Given the description of an element on the screen output the (x, y) to click on. 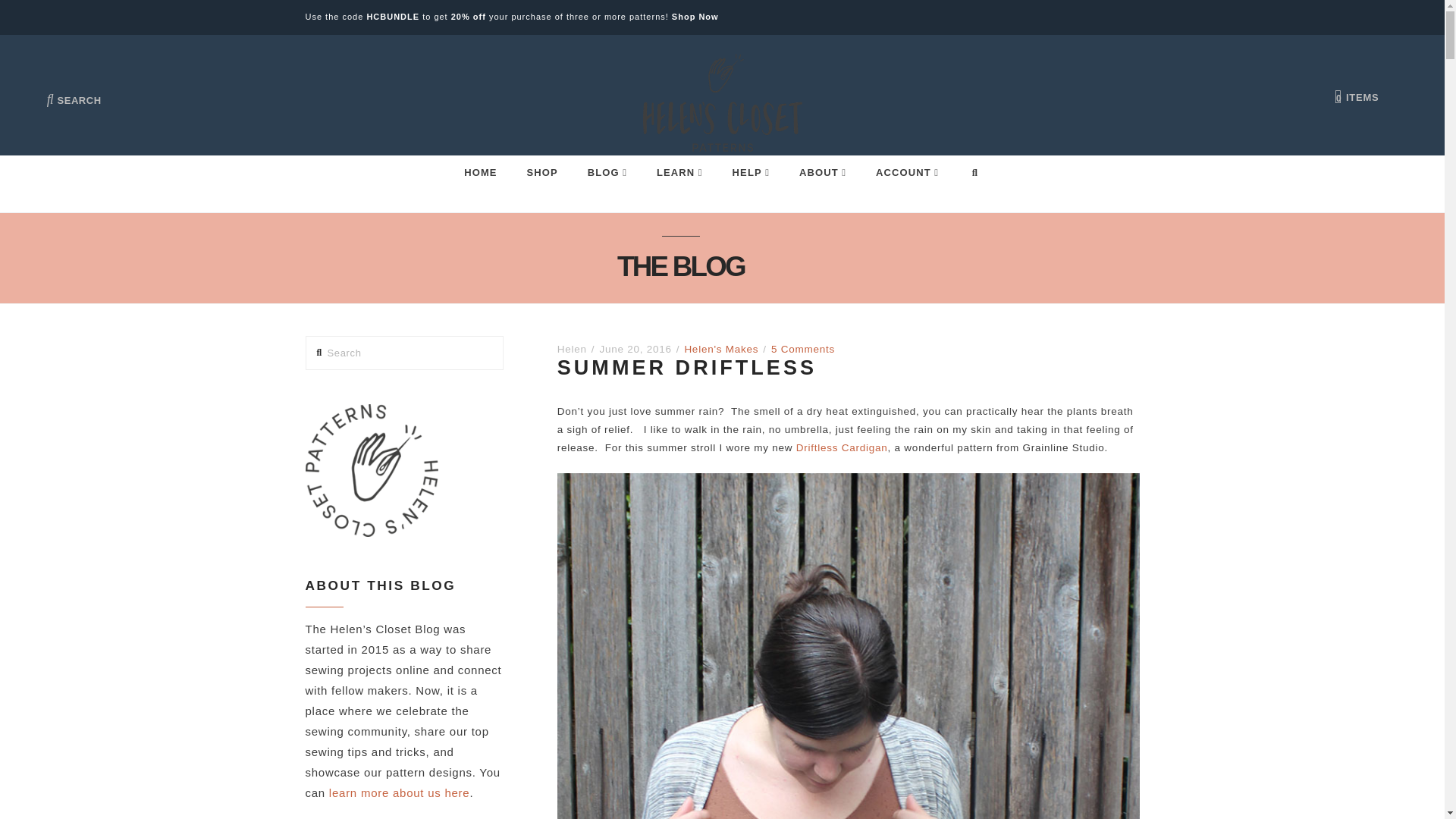
HOME (479, 164)
ABOUT (822, 164)
SHOP (542, 164)
ACCOUNT (906, 164)
LEARN (679, 164)
HELP (750, 164)
SEARCH (74, 88)
BLOG (607, 164)
Shop Now (695, 16)
